Given the description of an element on the screen output the (x, y) to click on. 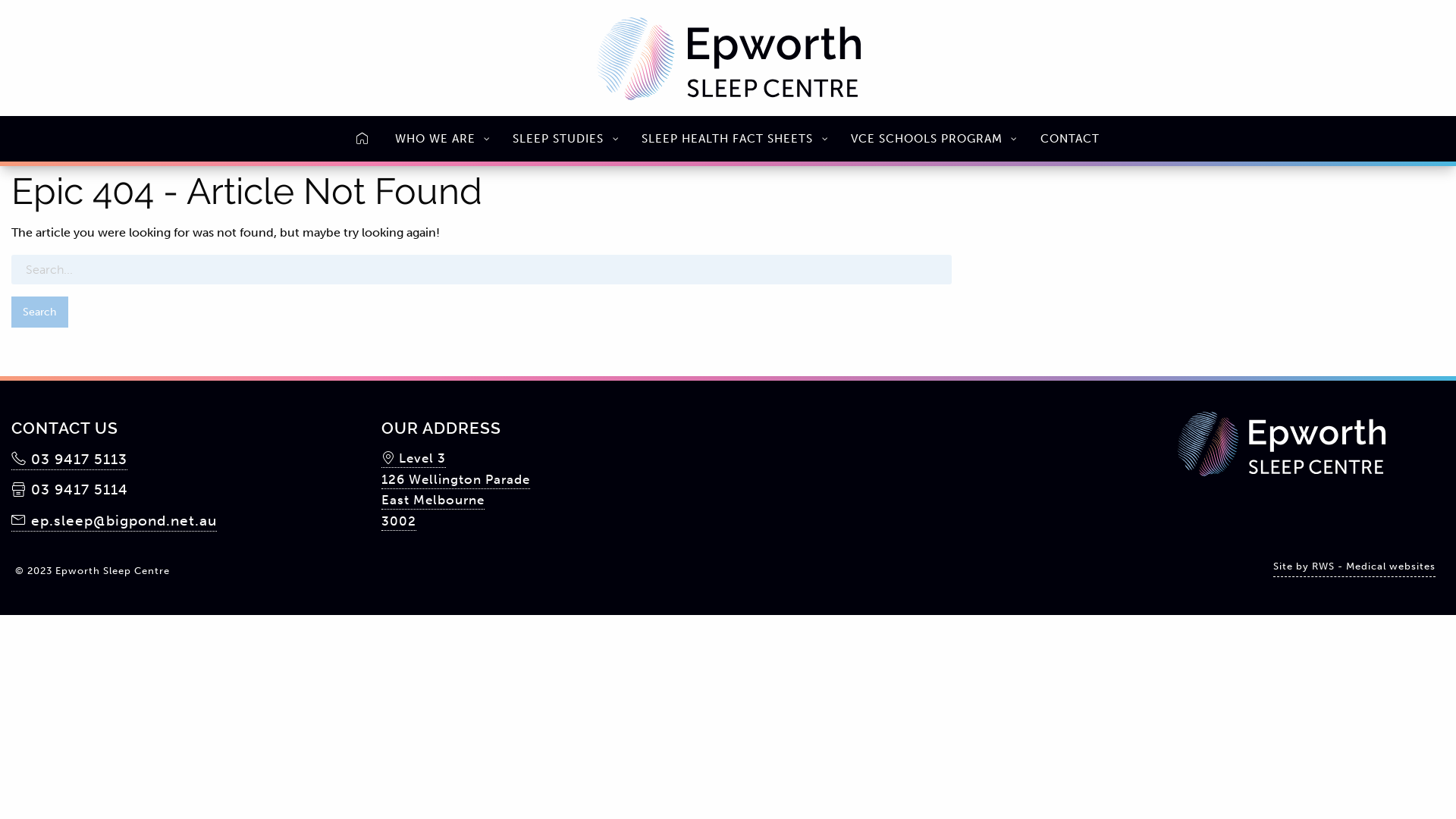
Search Element type: text (39, 311)
SLEEP HEALTH FACT SHEETS Element type: text (732, 138)
OUR ADDRESS Element type: text (542, 429)
03 9417 5113 Element type: text (69, 460)
ep.sleep@bigpond.net.au Element type: text (113, 521)
WHO WE ARE Element type: text (440, 138)
SLEEP STUDIES Element type: text (563, 138)
CONTACT Element type: text (1069, 138)
Search for: Element type: hover (481, 269)
VCE SCHOOLS PROGRAM Element type: text (932, 138)
Site by RWS - Medical websites Element type: text (1354, 567)
Level 3
126 Wellington Parade
East Melbourne
3002 Element type: text (454, 490)
